Given the description of an element on the screen output the (x, y) to click on. 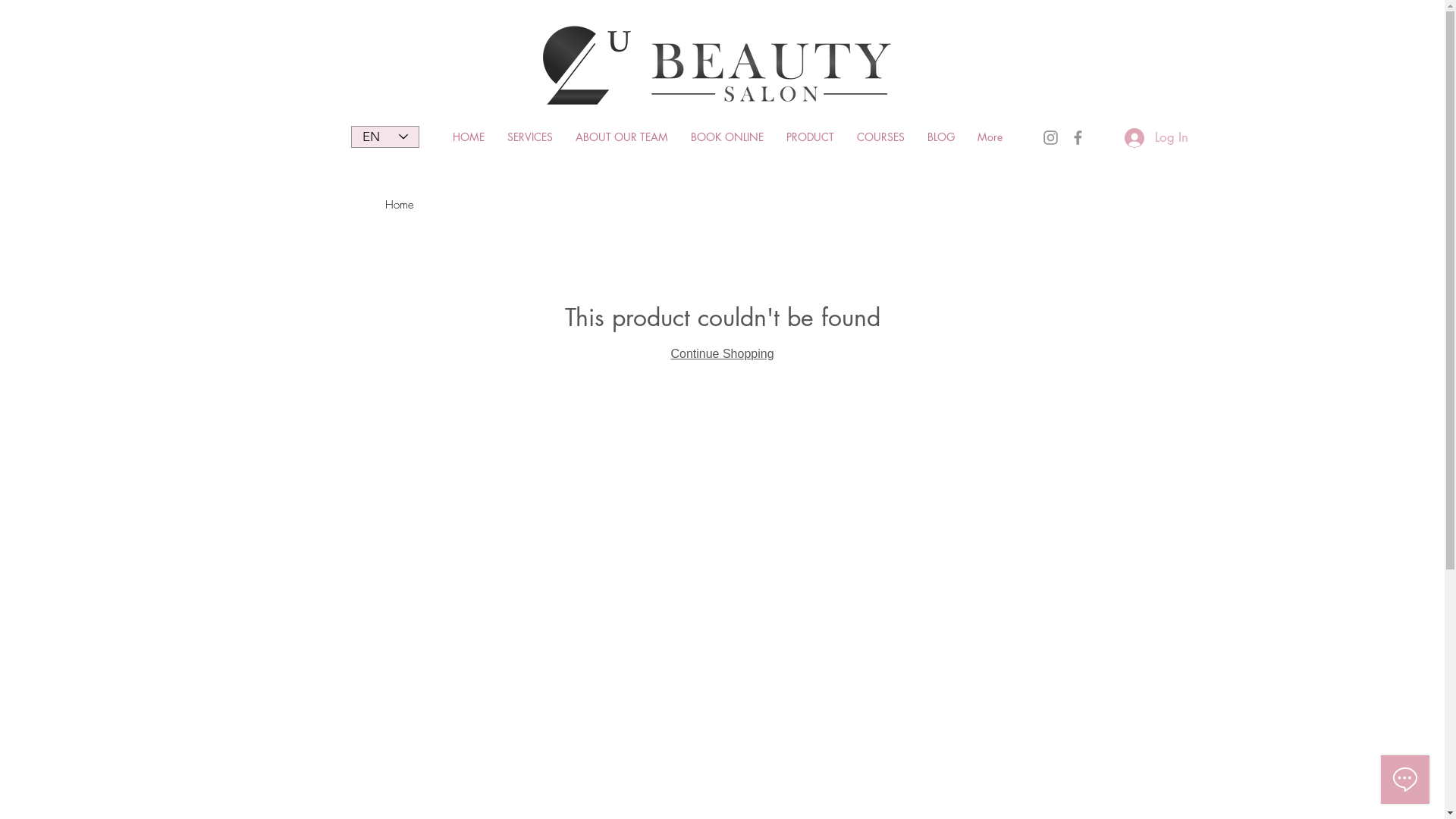
Home Element type: text (399, 204)
Log In Element type: text (1155, 136)
HOME Element type: text (468, 136)
PRODUCT Element type: text (810, 136)
BLOG Element type: text (941, 136)
COURSES Element type: text (879, 136)
Continue Shopping Element type: text (721, 353)
BOOK ONLINE Element type: text (727, 136)
SERVICES Element type: text (529, 136)
ABOUT OUR TEAM Element type: text (621, 136)
